Given the description of an element on the screen output the (x, y) to click on. 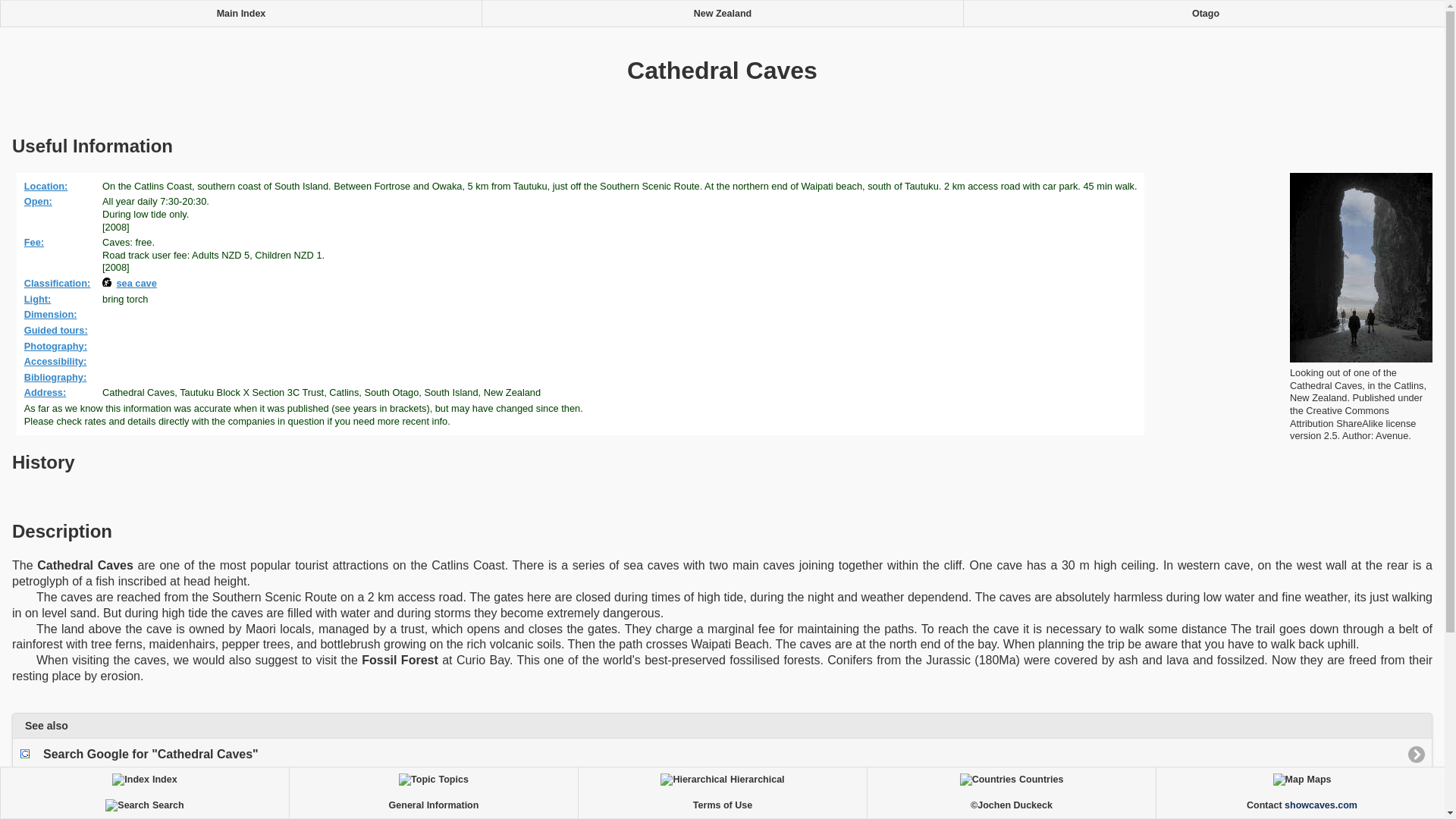
Index (144, 780)
Countries (1011, 780)
Google Earth Placemark (721, 787)
Location: (48, 185)
Light: (40, 298)
Guided tours: (58, 329)
Address: (47, 392)
Dimension: (52, 314)
Topics (433, 780)
Open: (40, 201)
